Given the description of an element on the screen output the (x, y) to click on. 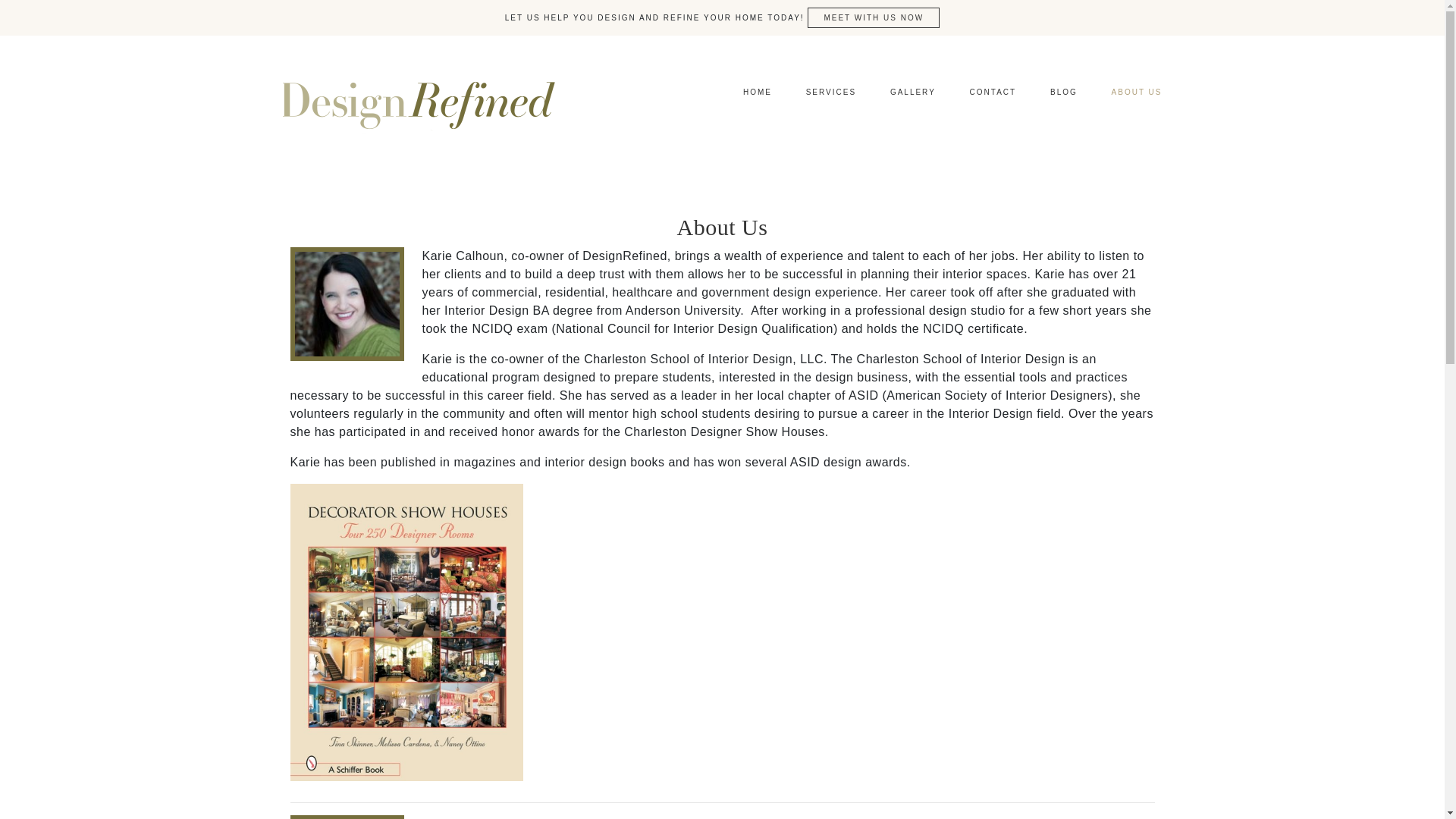
MEET WITH US NOW (873, 17)
GALLERY (912, 92)
CONTACT (993, 92)
SERVICES (830, 92)
BLOG (1064, 92)
DESIGN REFINED (418, 101)
HOME (757, 92)
ABOUT US (1136, 92)
